Given the description of an element on the screen output the (x, y) to click on. 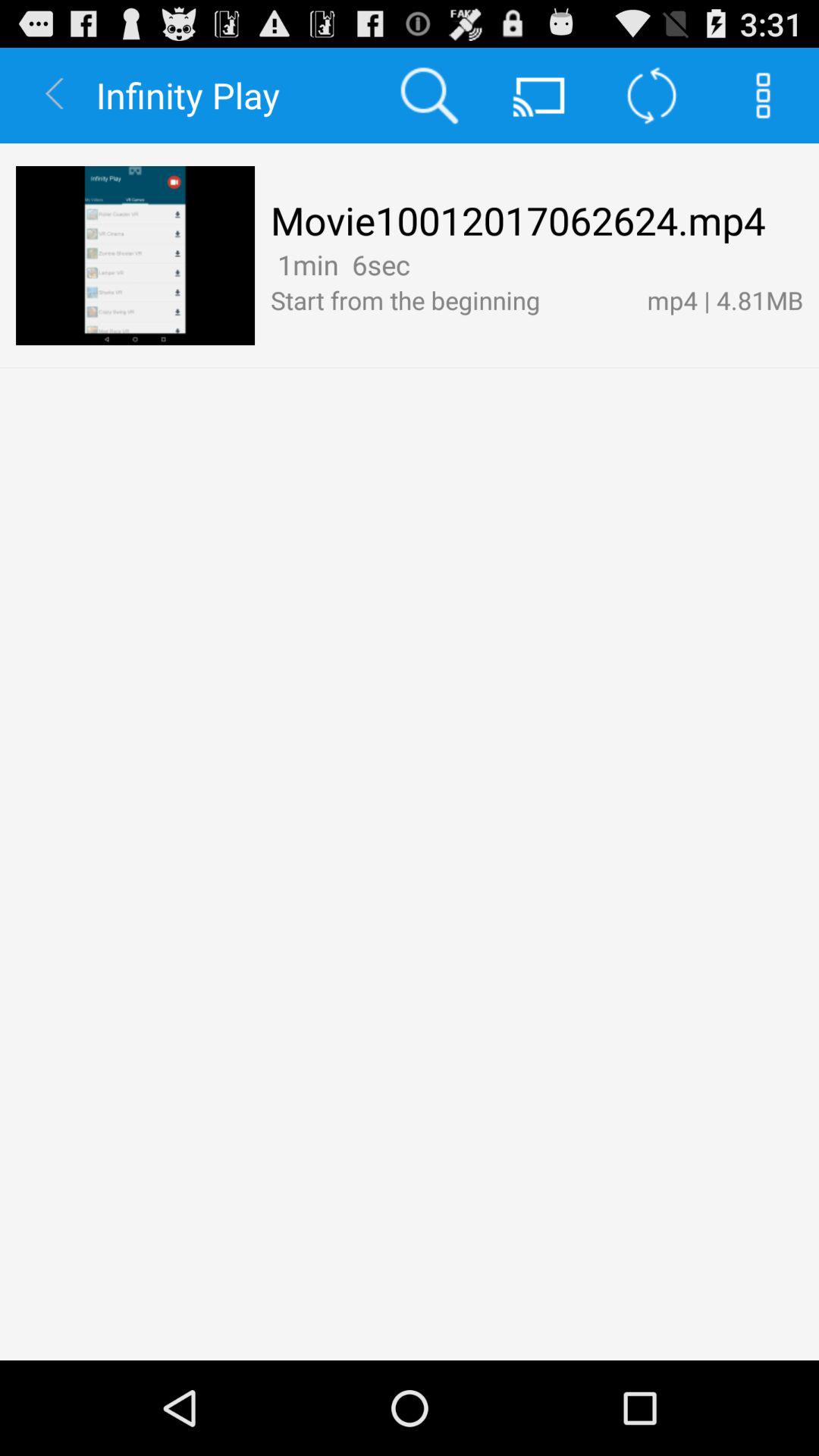
press 1min  6sec icon (340, 264)
